Given the description of an element on the screen output the (x, y) to click on. 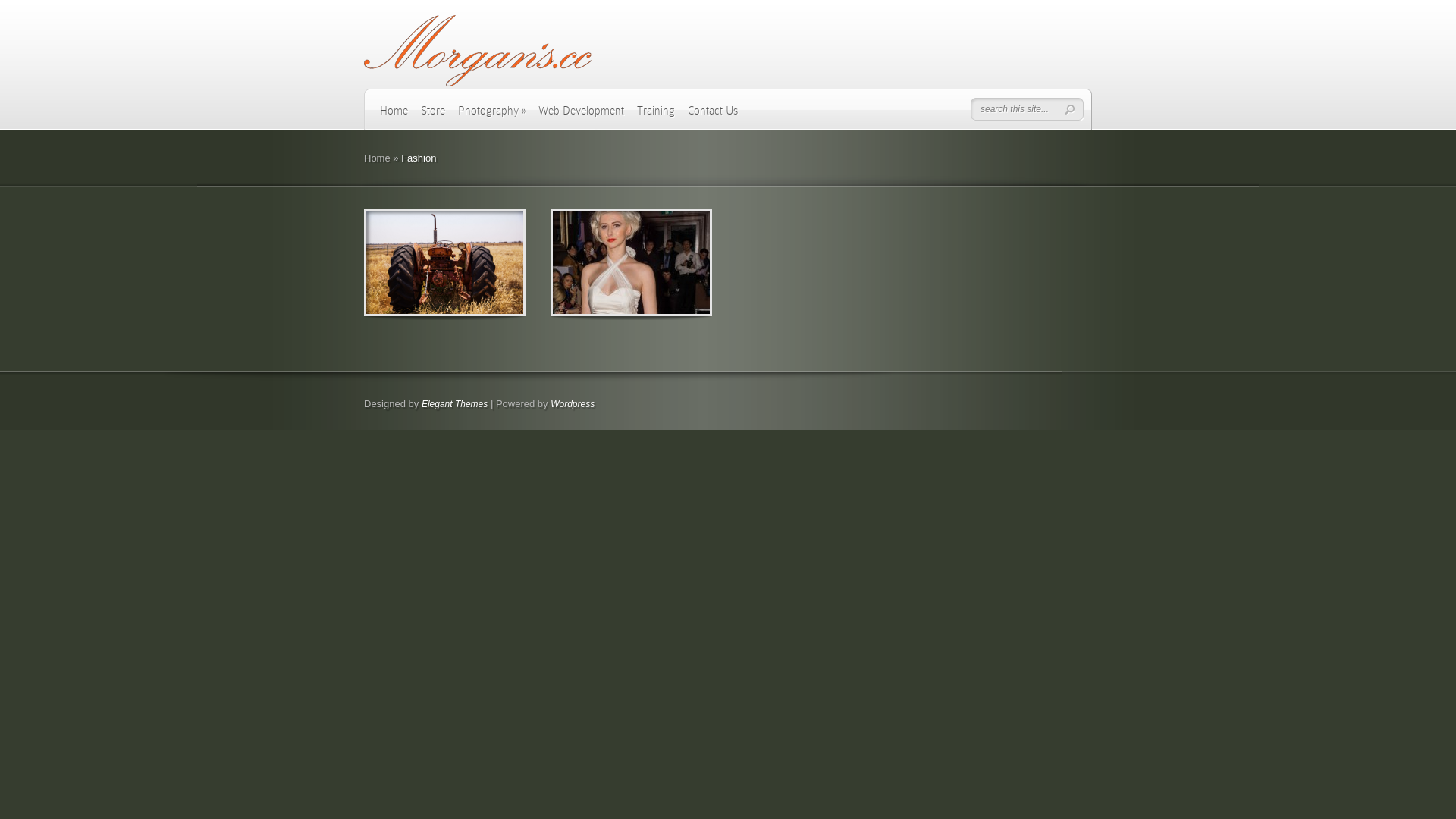
Store Element type: text (432, 115)
Wordpress Element type: text (572, 403)
Web Development Element type: text (581, 115)
Elegant Themes Element type: text (454, 403)
Training Element type: text (655, 115)
Home Element type: text (393, 115)
Home Element type: text (377, 157)
Contact Us Element type: text (712, 115)
